Given the description of an element on the screen output the (x, y) to click on. 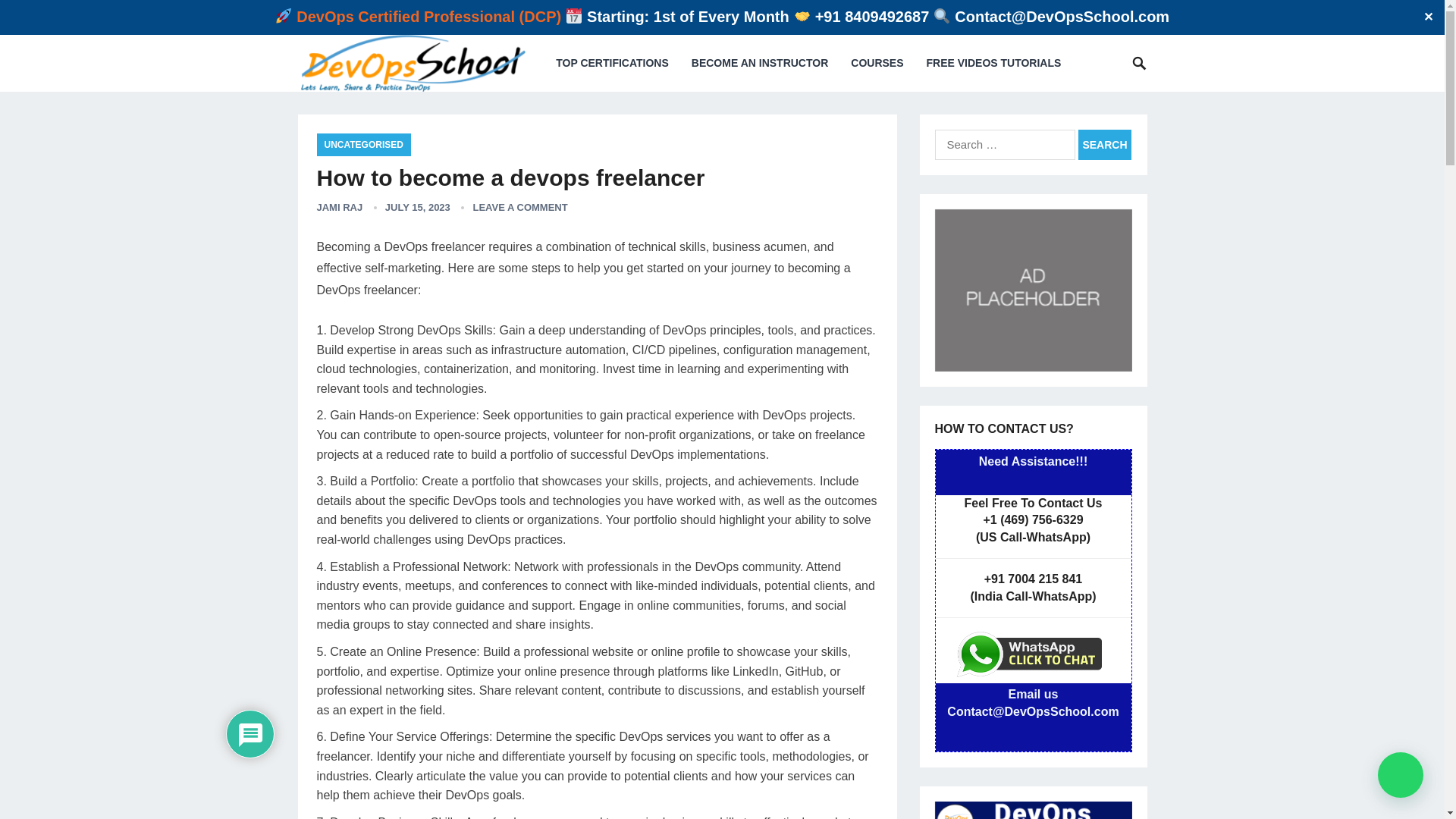
Posts by Jami Raj (339, 206)
Search (1104, 144)
JAMI RAJ (339, 206)
View all posts in Uncategorised (363, 144)
COURSES (877, 63)
FREE VIDEOS TUTORIALS (992, 63)
BECOME AN INSTRUCTOR (759, 63)
Search (1104, 144)
UNCATEGORISED (363, 144)
LEAVE A COMMENT (519, 206)
TOP CERTIFICATIONS (611, 63)
